Given the description of an element on the screen output the (x, y) to click on. 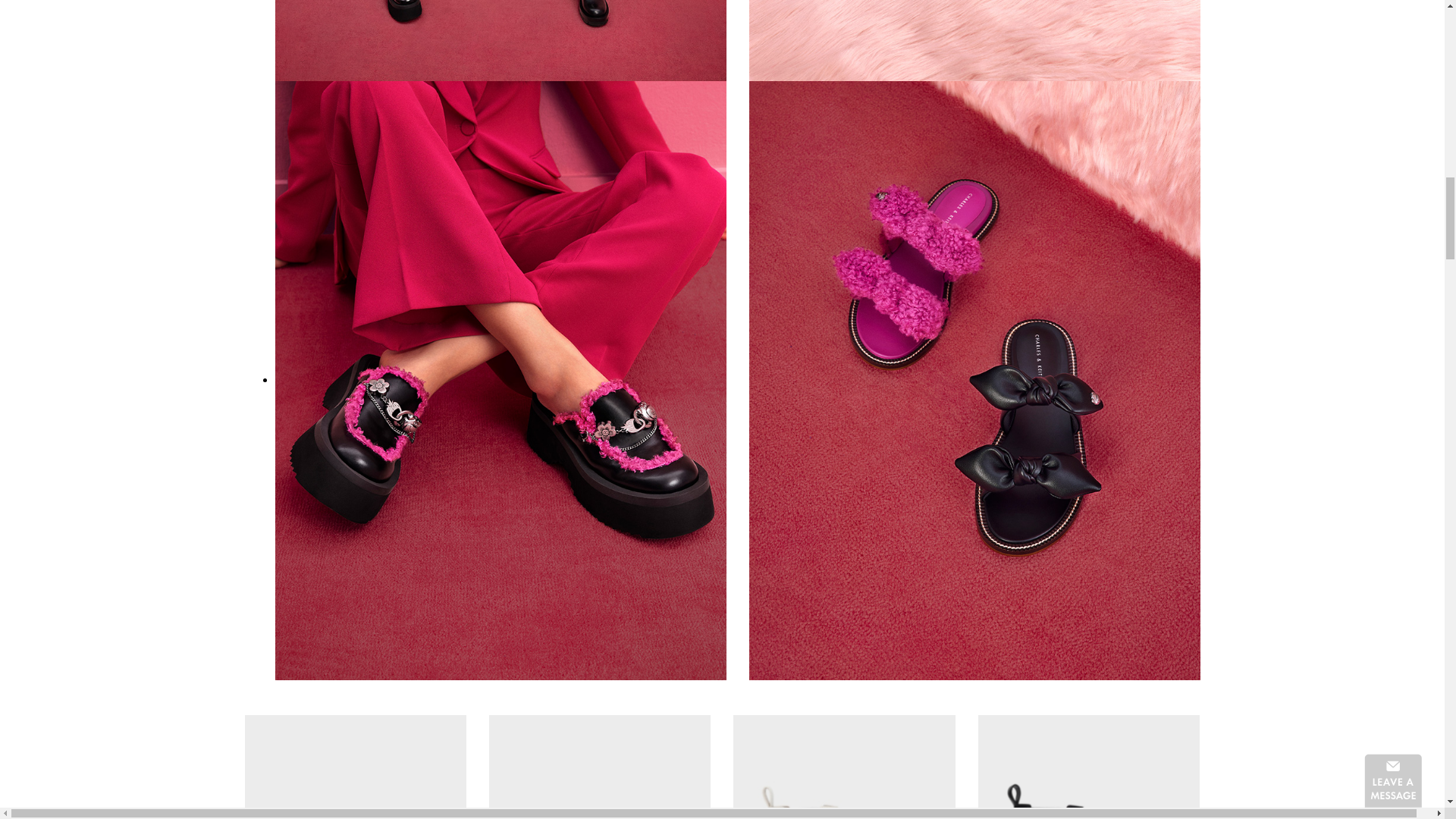
Lotso Furry Double Knotted Slide Sandals (974, 379)
Lotso Fur-Trim Embellished Platform Mules (599, 766)
Lotso Fur-Trim Embellished Platform Mules (500, 379)
Lotso Embellished Platform Mules (354, 766)
